Given the description of an element on the screen output the (x, y) to click on. 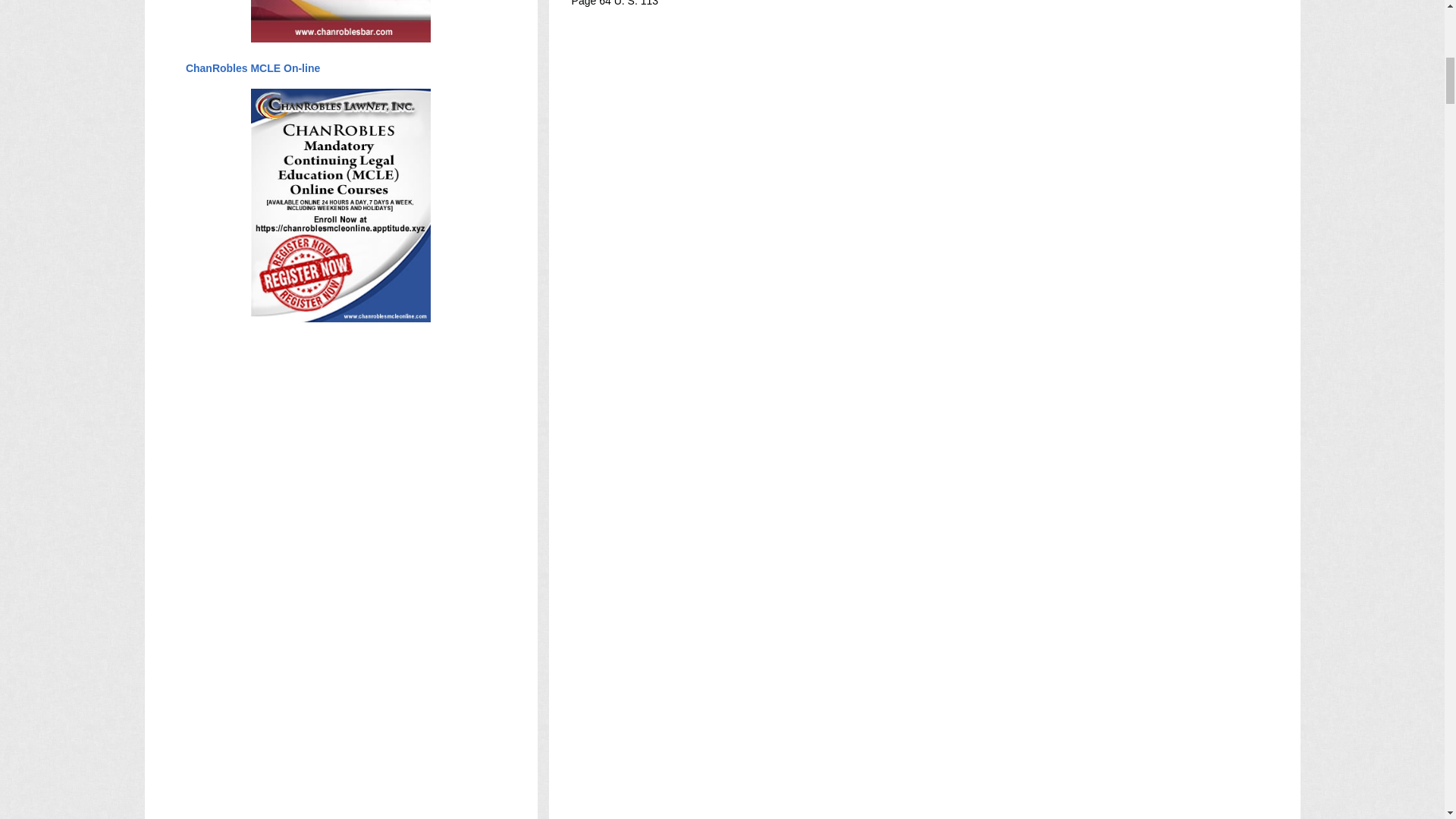
Advertisement (848, 336)
Advertisement (848, 224)
Advertisement (848, 410)
Advertisement (848, 485)
ChanRobles MCLE On-line (252, 68)
Page 64 U. S. 113 (615, 3)
Advertisement (848, 111)
Advertisement (848, 633)
Advertisement (848, 793)
Advertisement (848, 559)
